Given the description of an element on the screen output the (x, y) to click on. 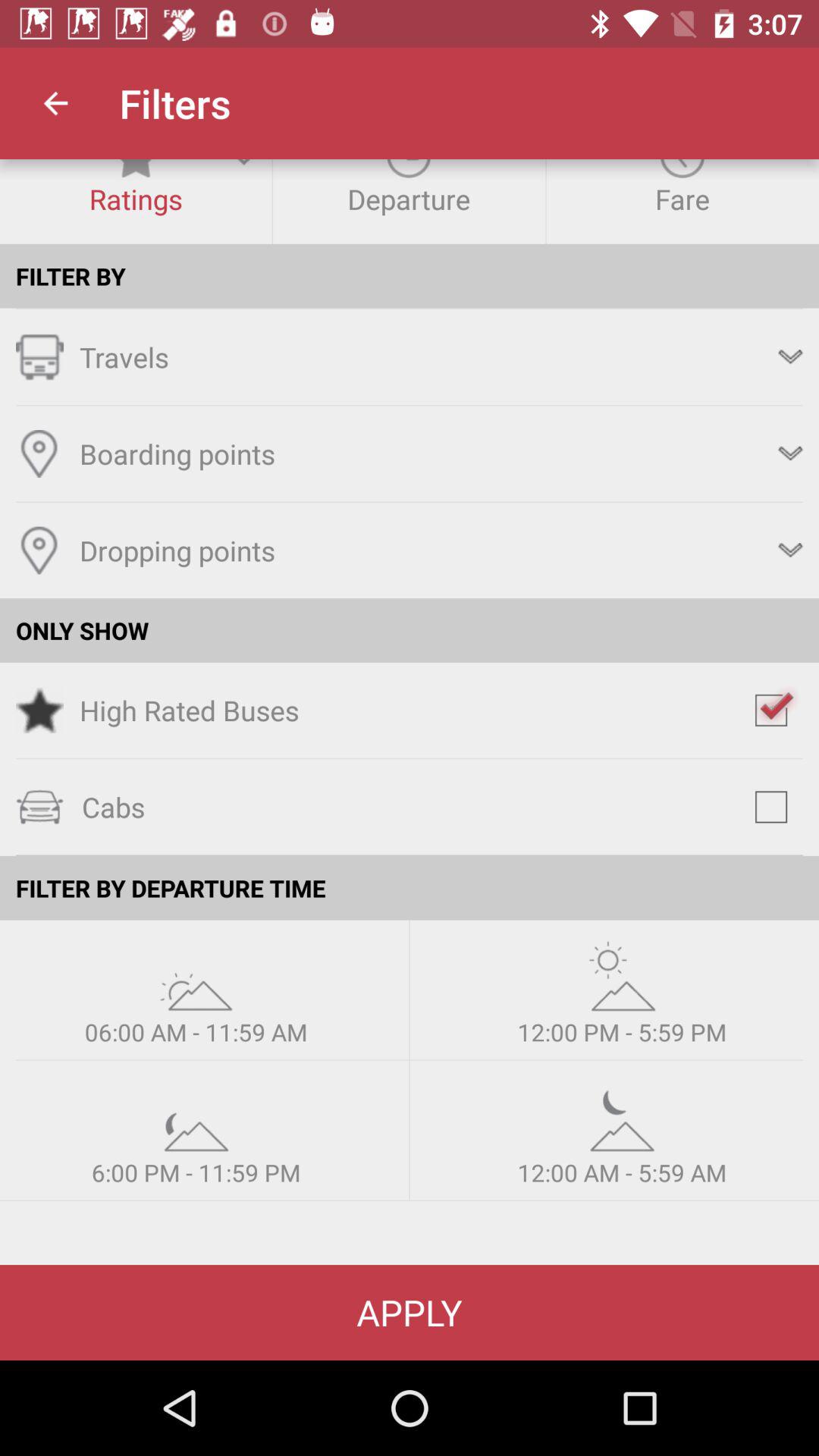
filter by this time (196, 1116)
